Given the description of an element on the screen output the (x, y) to click on. 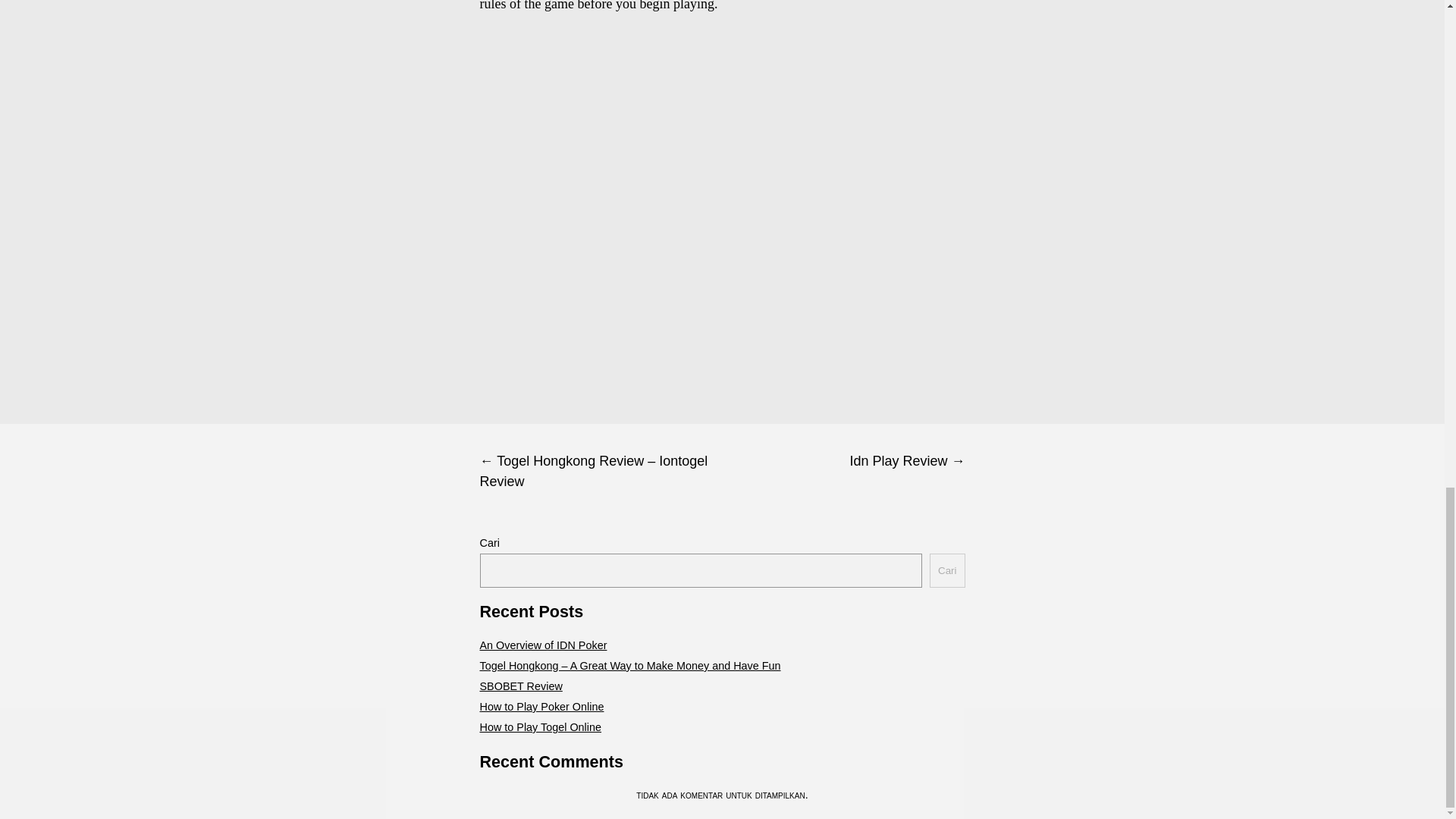
How to Play Poker Online (541, 706)
SBOBET Review (520, 686)
Idn Play Review (842, 461)
An Overview of IDN Poker (543, 645)
How to Play Togel Online (540, 727)
Cari (946, 570)
